Given the description of an element on the screen output the (x, y) to click on. 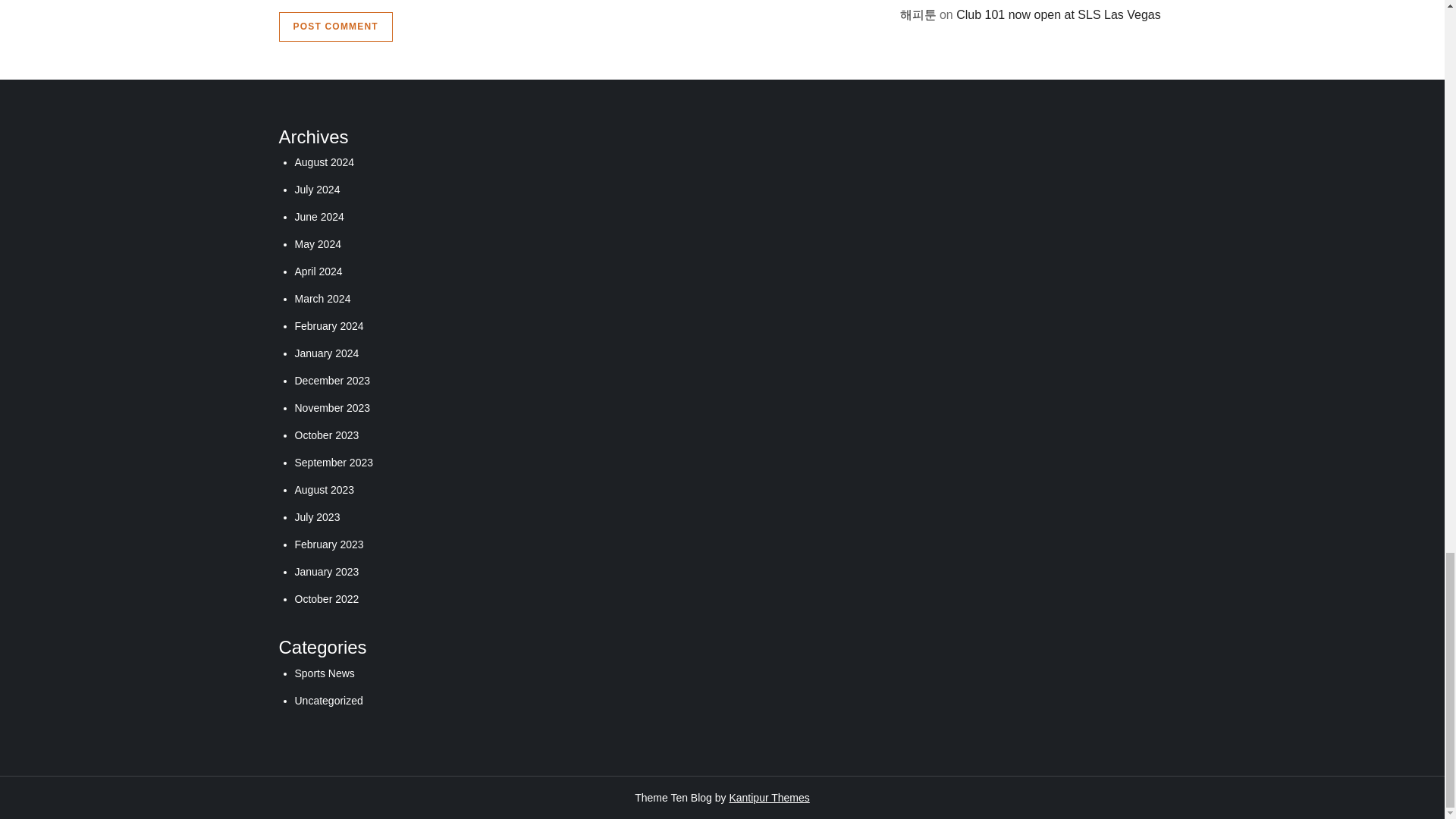
Post Comment (336, 27)
May 2024 (317, 244)
June 2024 (318, 216)
Post Comment (336, 27)
April 2024 (318, 271)
August 2024 (323, 162)
July 2024 (316, 189)
